Given the description of an element on the screen output the (x, y) to click on. 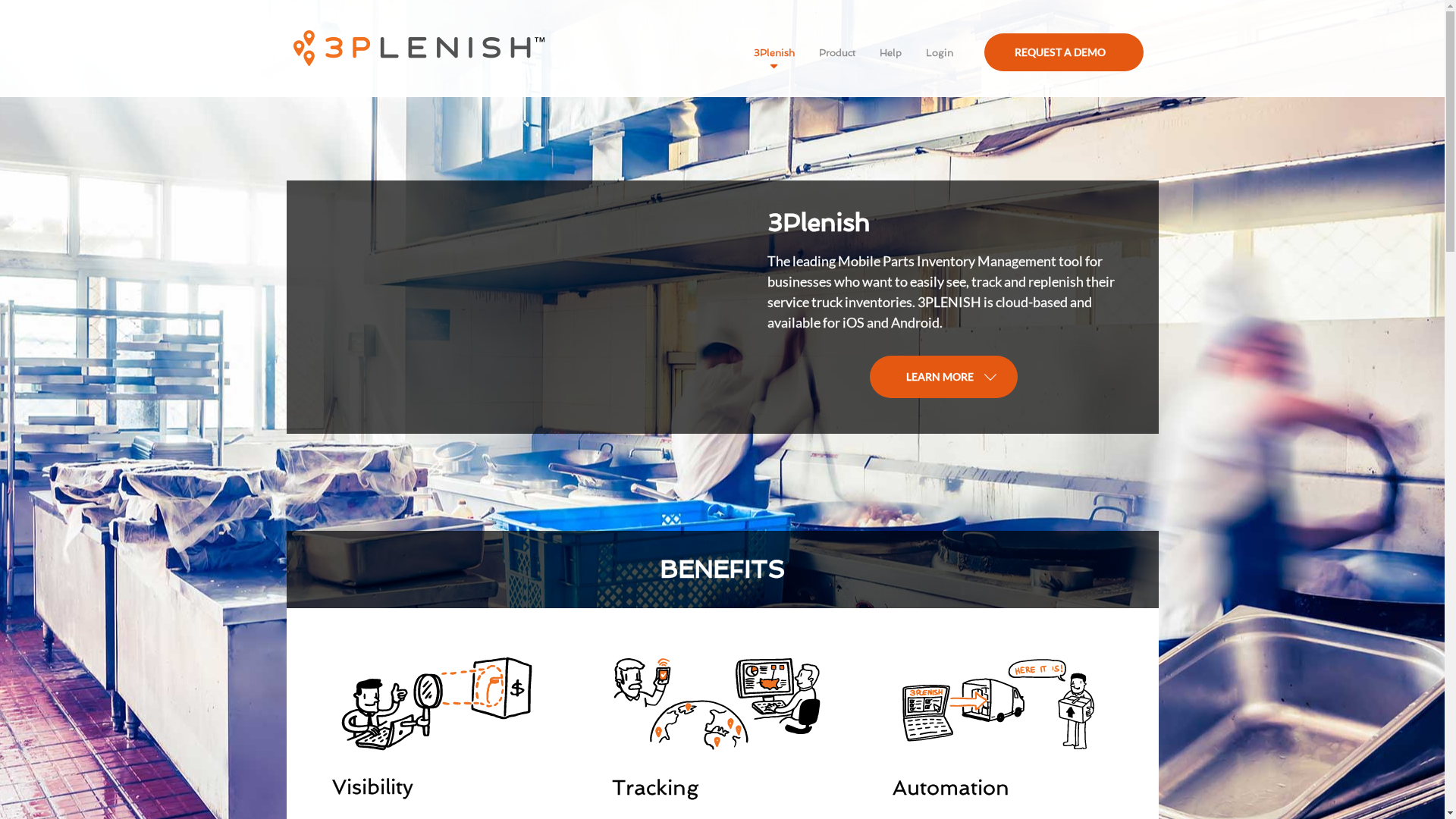
Help Element type: text (890, 52)
Login Element type: text (938, 52)
3Plenish Element type: text (773, 52)
LEARN MORE Element type: text (943, 376)
Product Element type: text (836, 52)
REQUEST A DEMO Element type: text (1063, 52)
